Given the description of an element on the screen output the (x, y) to click on. 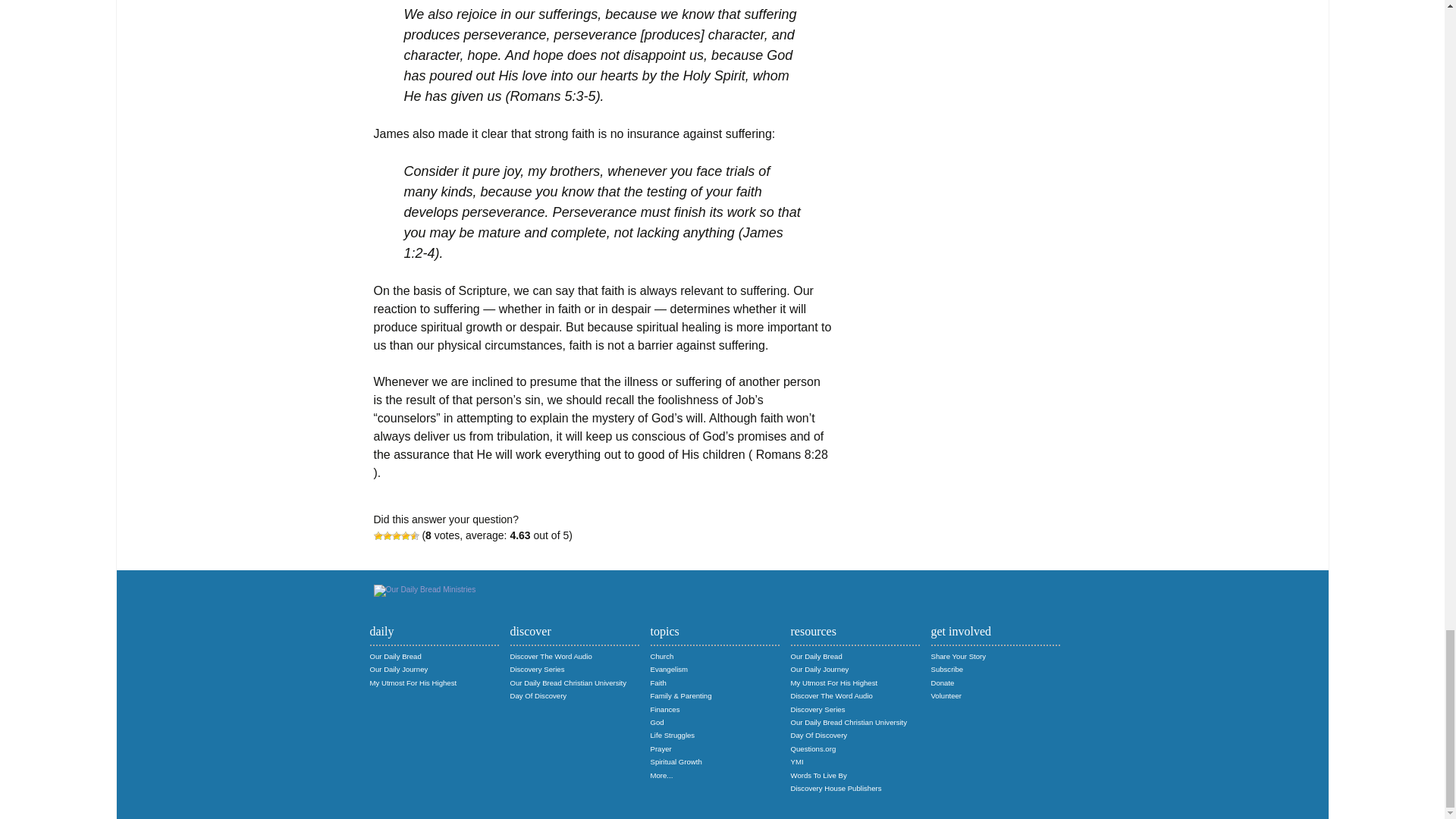
1 Star (376, 535)
5 Stars (414, 535)
4 Stars (404, 535)
3 Stars (395, 535)
2 Stars (386, 535)
